Given the description of an element on the screen output the (x, y) to click on. 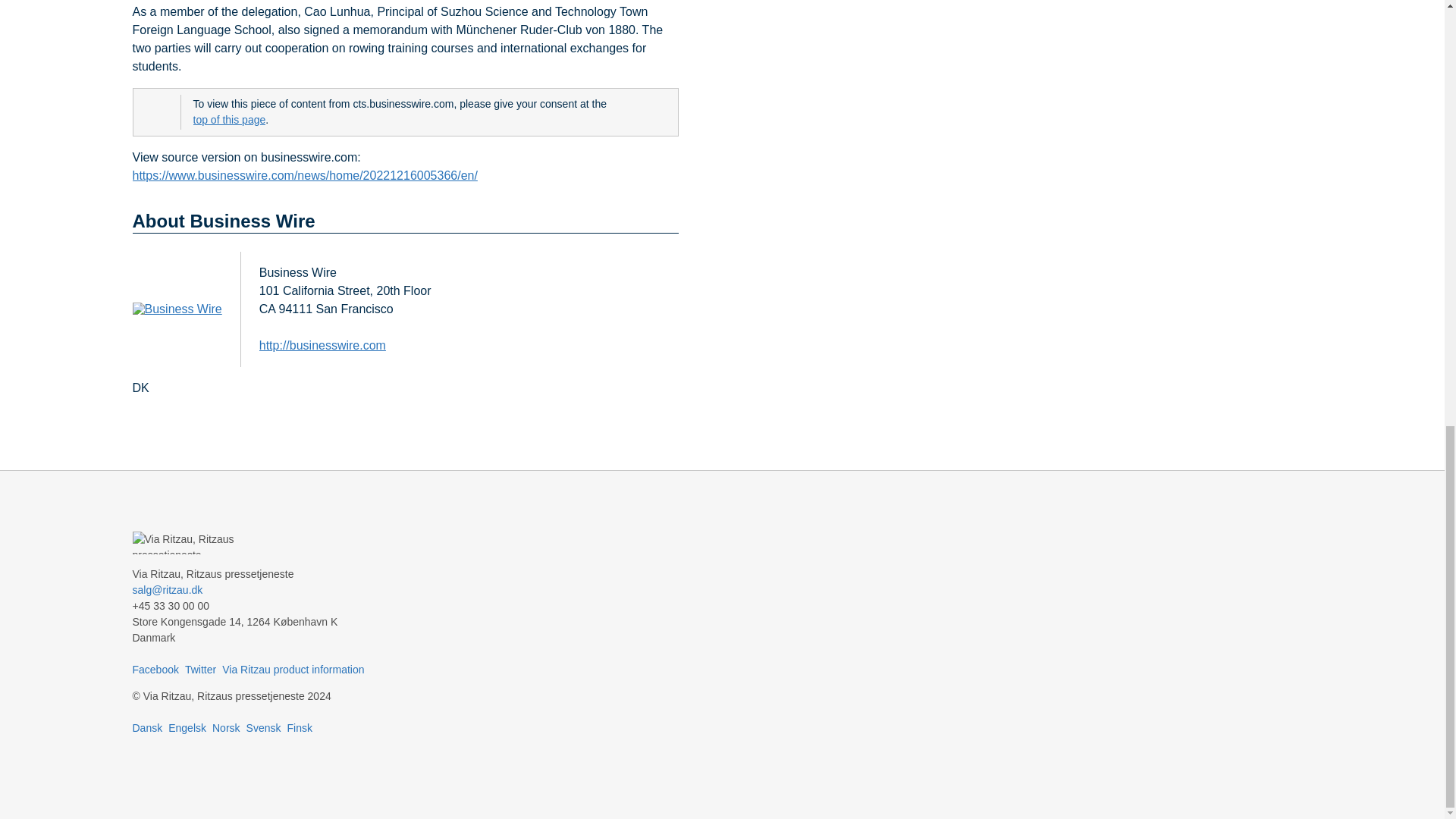
Twitter (199, 669)
top of this page (228, 119)
Norsk (226, 727)
Facebook (154, 669)
Via Ritzau product information (293, 669)
Svensk (263, 727)
Engelsk (187, 727)
Finsk (298, 727)
Dansk (146, 727)
